Given the description of an element on the screen output the (x, y) to click on. 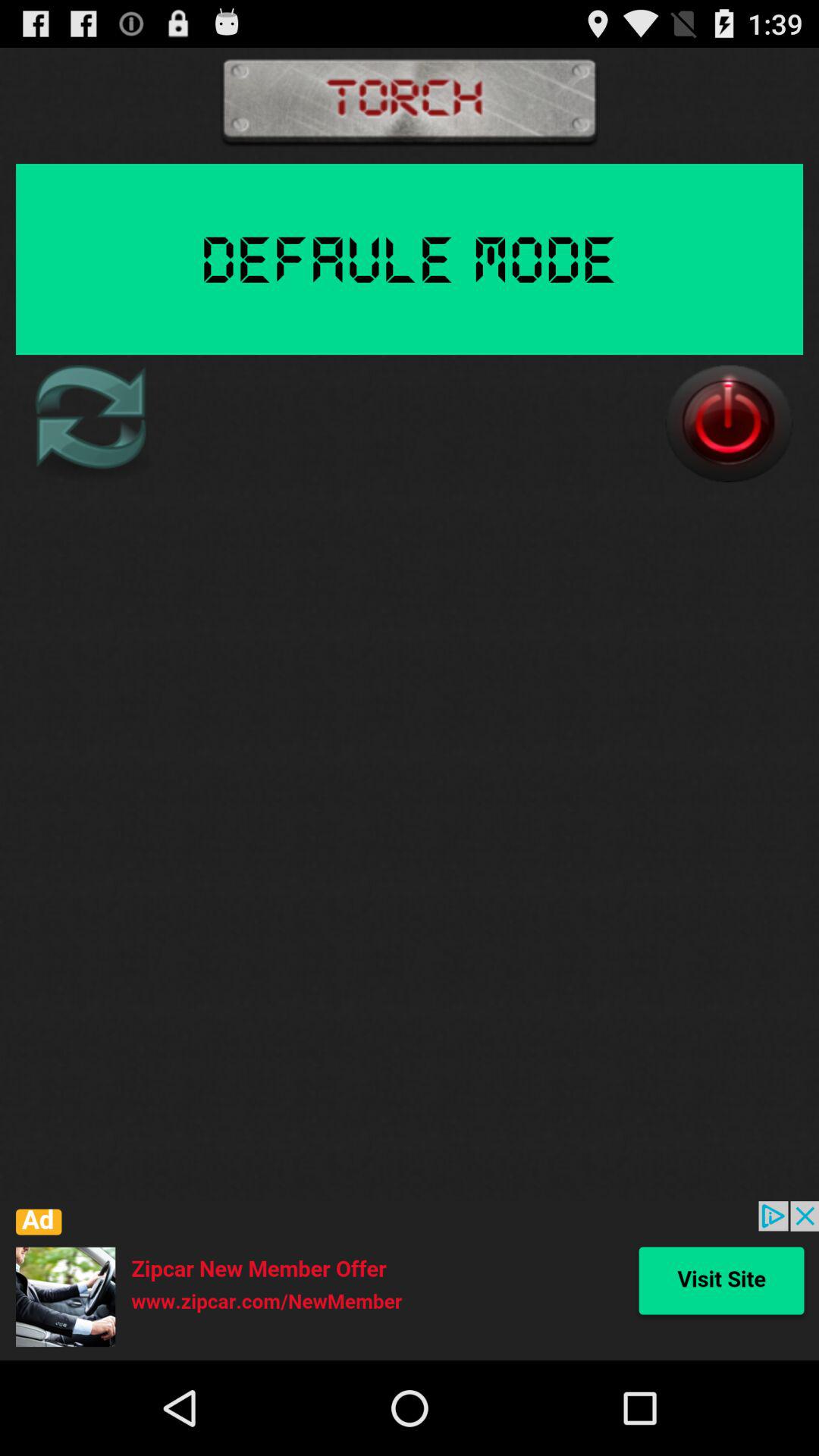
press the icon at the bottom (409, 1280)
